Given the description of an element on the screen output the (x, y) to click on. 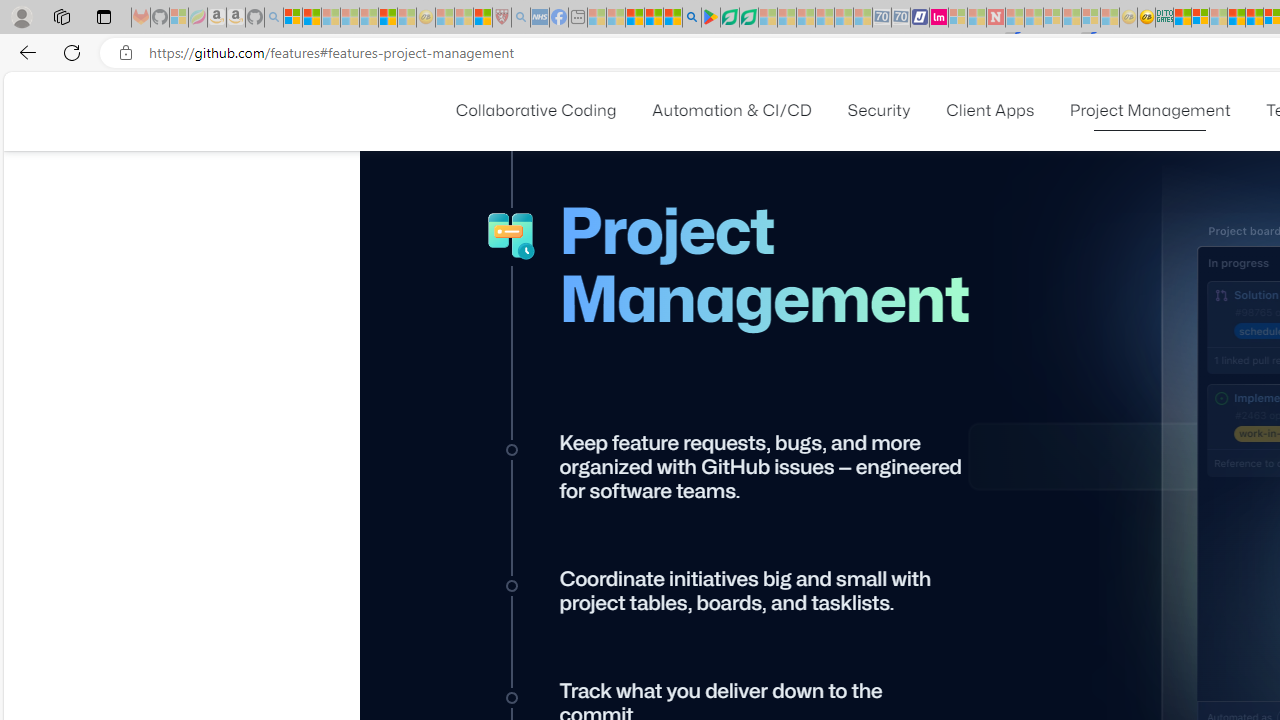
New tab - Sleeping (578, 17)
